Given the description of an element on the screen output the (x, y) to click on. 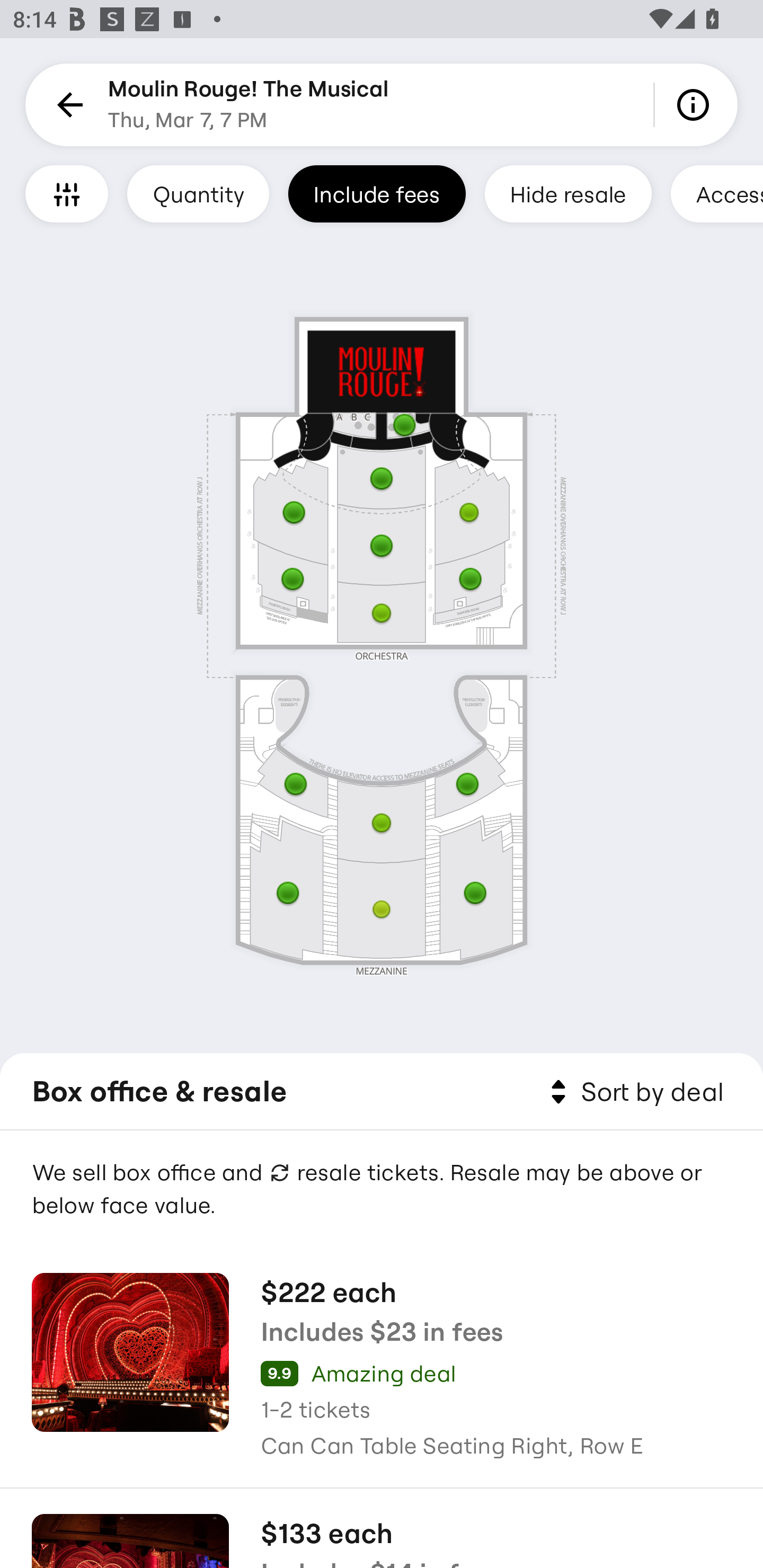
Back (66, 104)
Moulin Rouge! The Musical Thu, Mar 7, 7 PM (248, 104)
Info (695, 104)
Filters and Accessible Seating (66, 193)
Quantity (198, 193)
Include fees (376, 193)
Hide resale (567, 193)
Sort by deal (633, 1091)
